Given the description of an element on the screen output the (x, y) to click on. 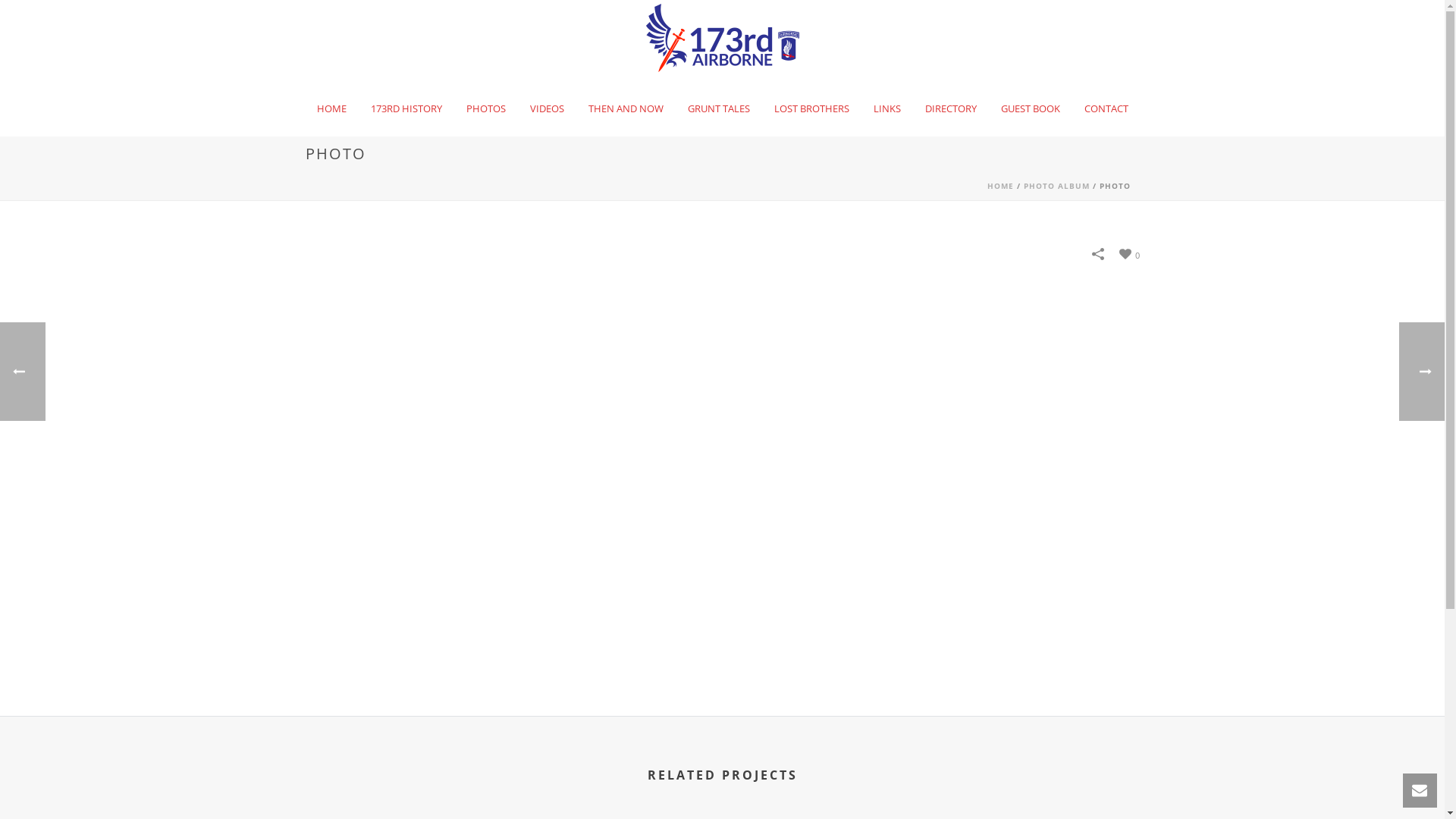
PHOTOS Element type: text (485, 108)
LINKS Element type: text (886, 108)
CONTACT Element type: text (1106, 108)
VIDEOS Element type: text (546, 108)
GRUNT TALES Element type: text (717, 108)
DIRECTORY Element type: text (950, 108)
PHOTO ALBUM Element type: text (1056, 185)
Photo Element type: hover (721, 487)
THEN AND NOW Element type: text (625, 108)
173rd Element type: hover (722, 37)
173RD HISTORY Element type: text (405, 108)
LOST BROTHERS Element type: text (810, 108)
HOME Element type: text (1000, 185)
0 Element type: text (1129, 252)
Photo Element type: hover (721, 486)
GUEST BOOK Element type: text (1030, 108)
HOME Element type: text (331, 108)
